Given the description of an element on the screen output the (x, y) to click on. 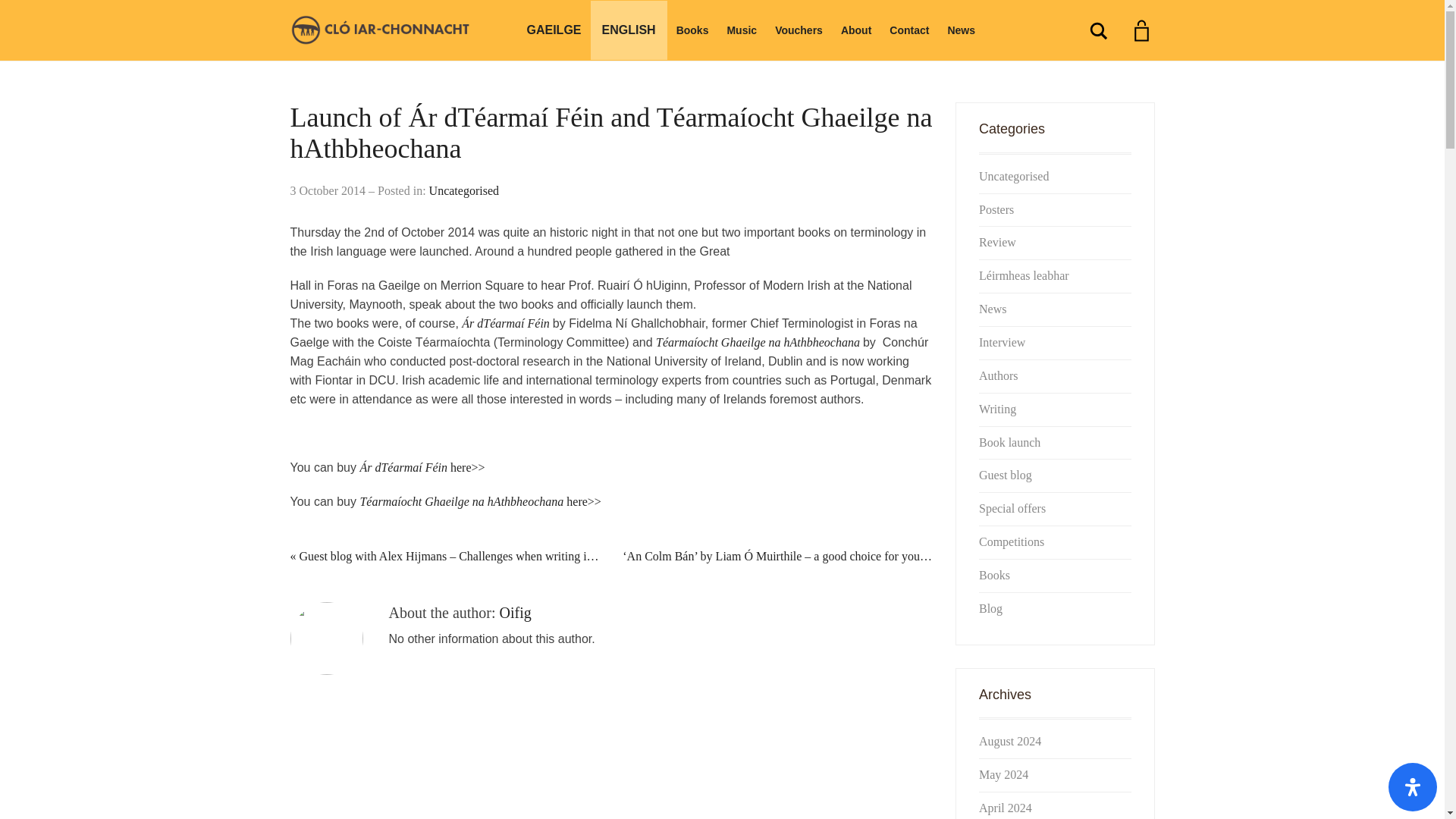
Gaeilge (552, 30)
English (628, 30)
Accessibility (1413, 786)
Books (691, 30)
GAEILGE (552, 30)
Music (741, 30)
ENGLISH (628, 30)
